Given the description of an element on the screen output the (x, y) to click on. 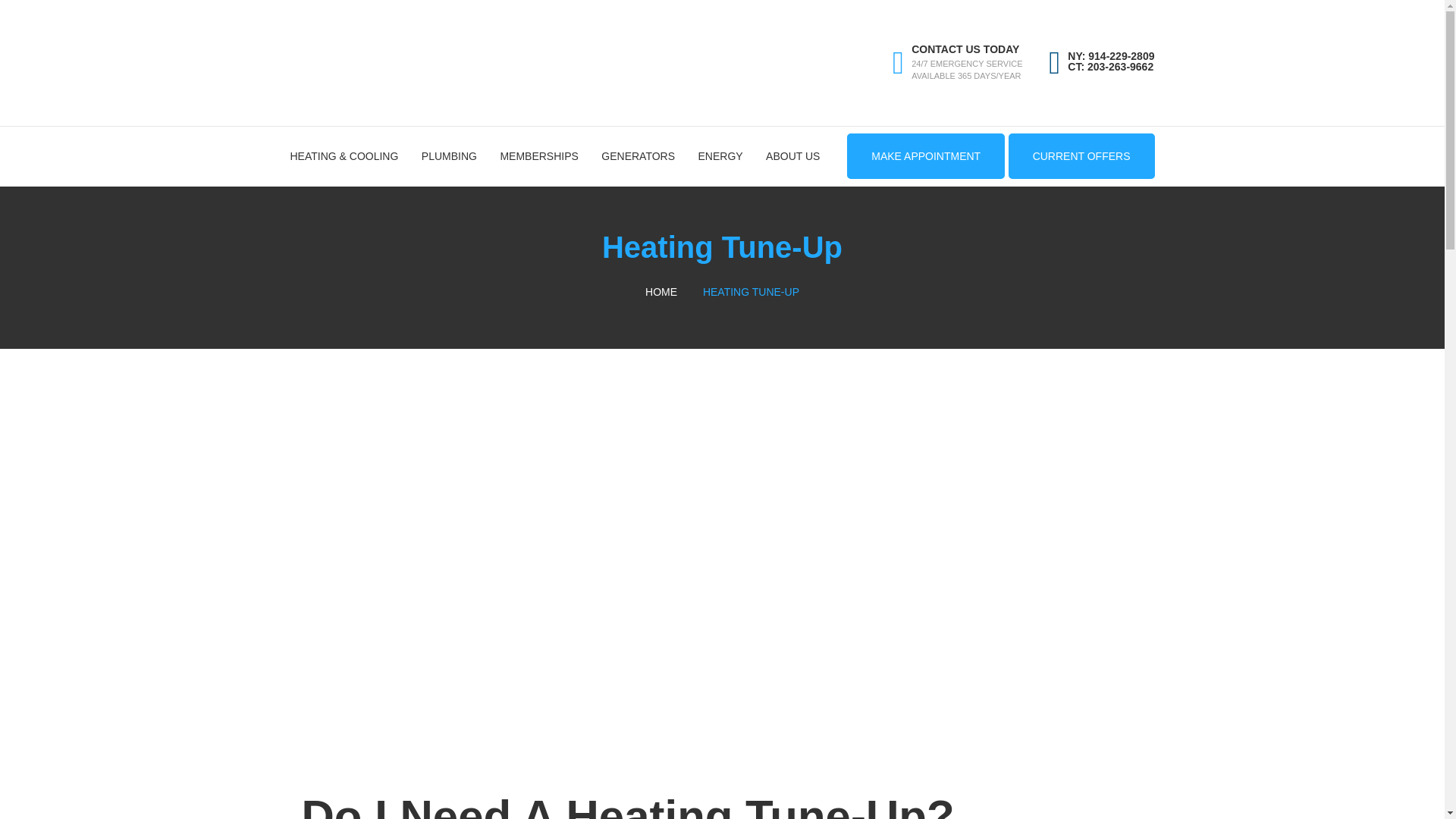
914-229-2809 (1120, 55)
CONTACT US TODAY (965, 49)
PLUMBING (449, 156)
203-263-9662 (1120, 66)
